Given the description of an element on the screen output the (x, y) to click on. 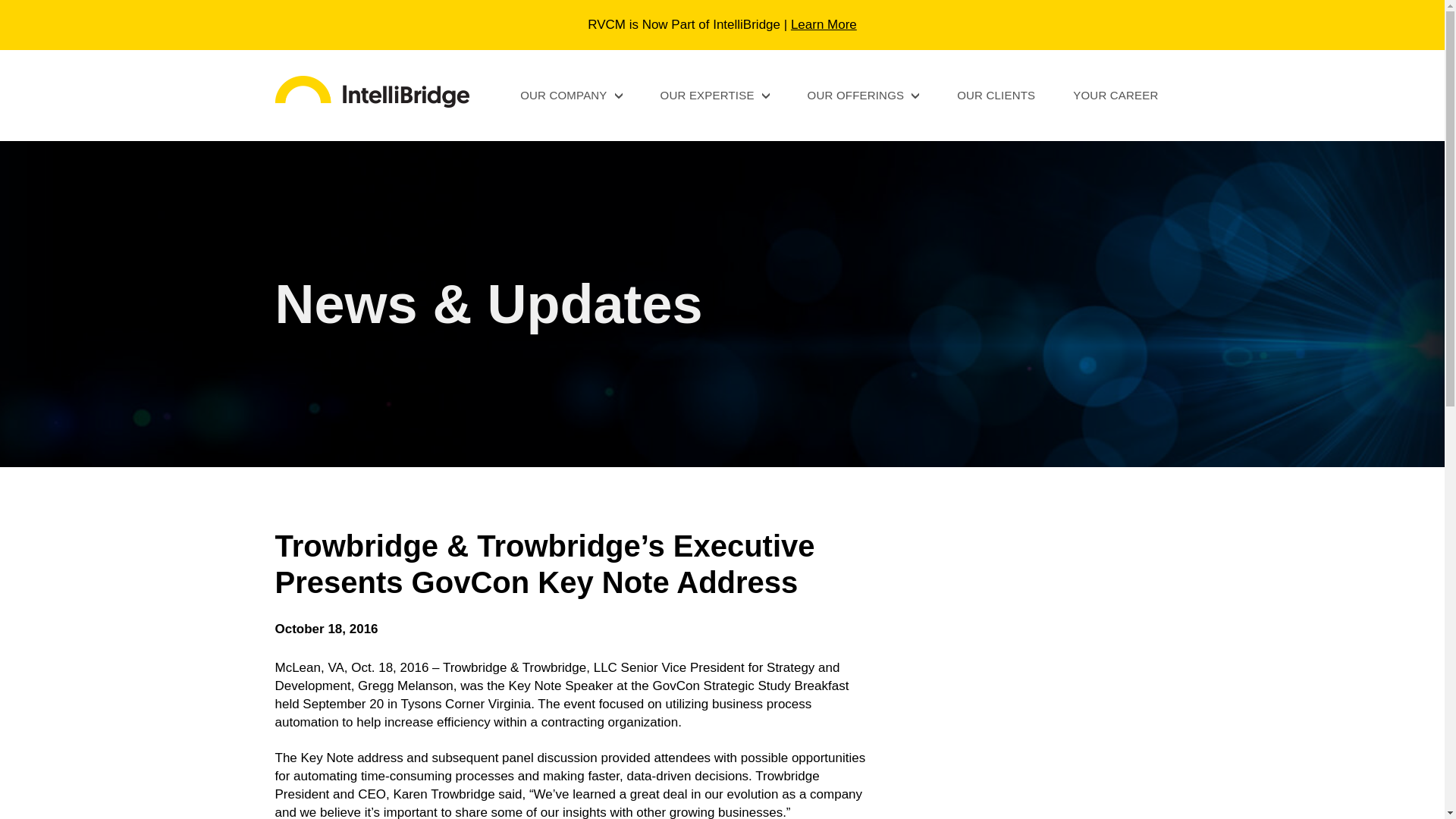
Learn More (823, 24)
OUR EXPERTISE (715, 94)
YOUR CAREER (1115, 94)
OUR COMPANY (570, 94)
OUR CLIENTS (995, 94)
OUR OFFERINGS (864, 94)
